Given the description of an element on the screen output the (x, y) to click on. 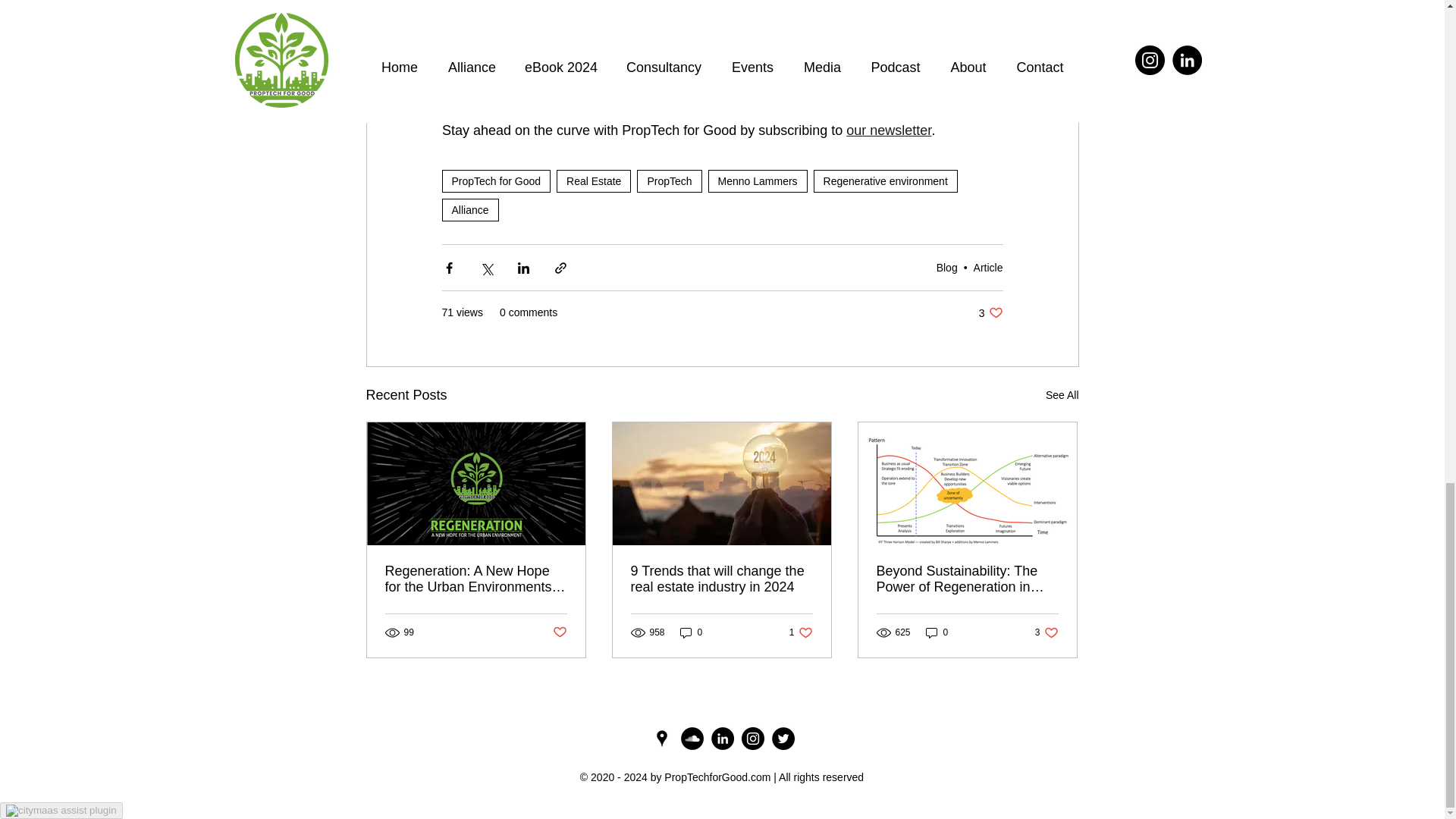
Menno Lammers (757, 180)
Alliance (469, 210)
PropTech for Good (495, 180)
Regenerative environment (885, 180)
our newsletter (888, 130)
PropTech (669, 180)
Real Estate (593, 180)
Digital High Street eBook Series (765, 109)
